Given the description of an element on the screen output the (x, y) to click on. 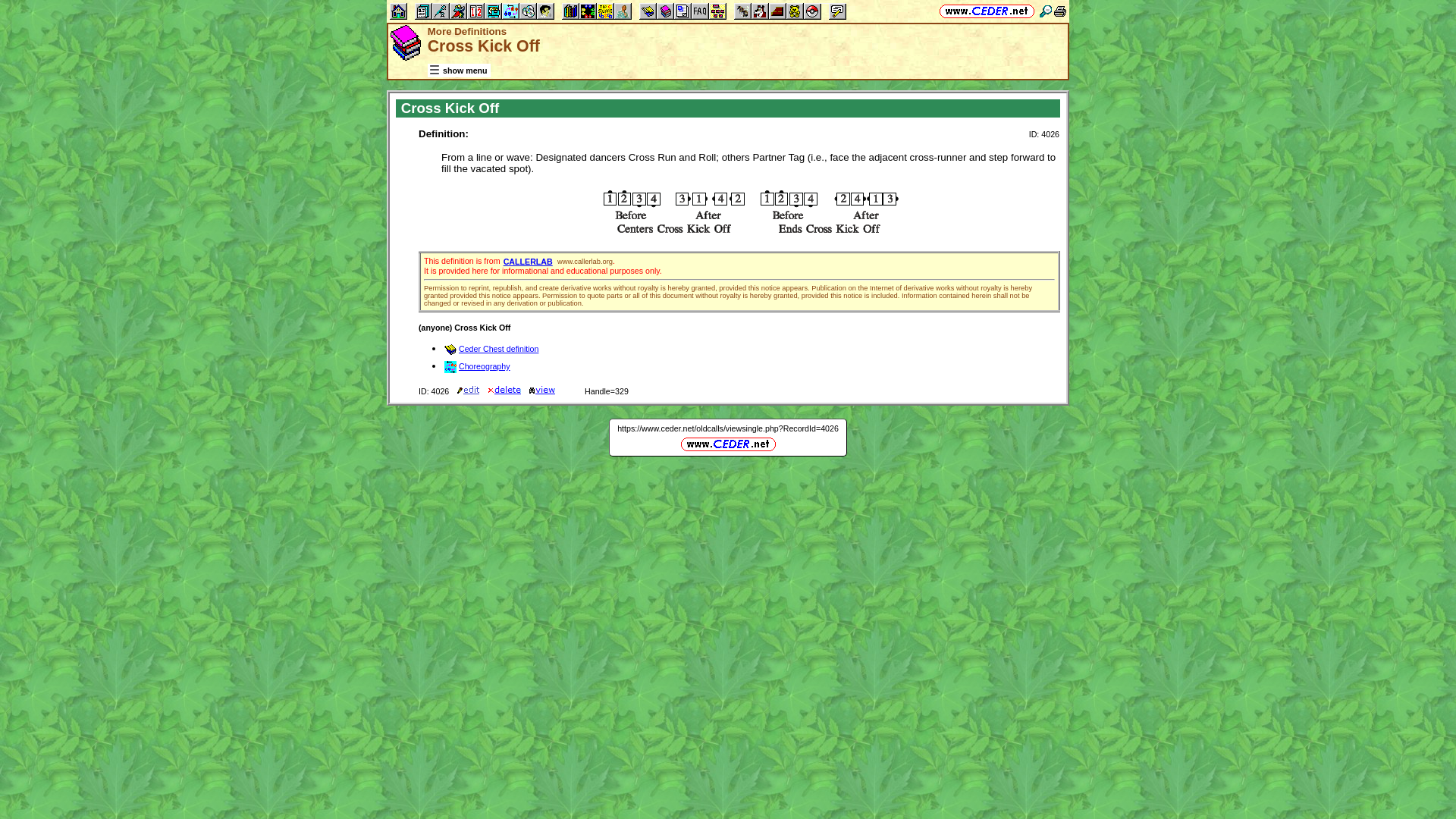
CALLERLAB (528, 261)
Choreography (477, 366)
 show menu  (458, 70)
Ceder Chest definition (491, 347)
